Given the description of an element on the screen output the (x, y) to click on. 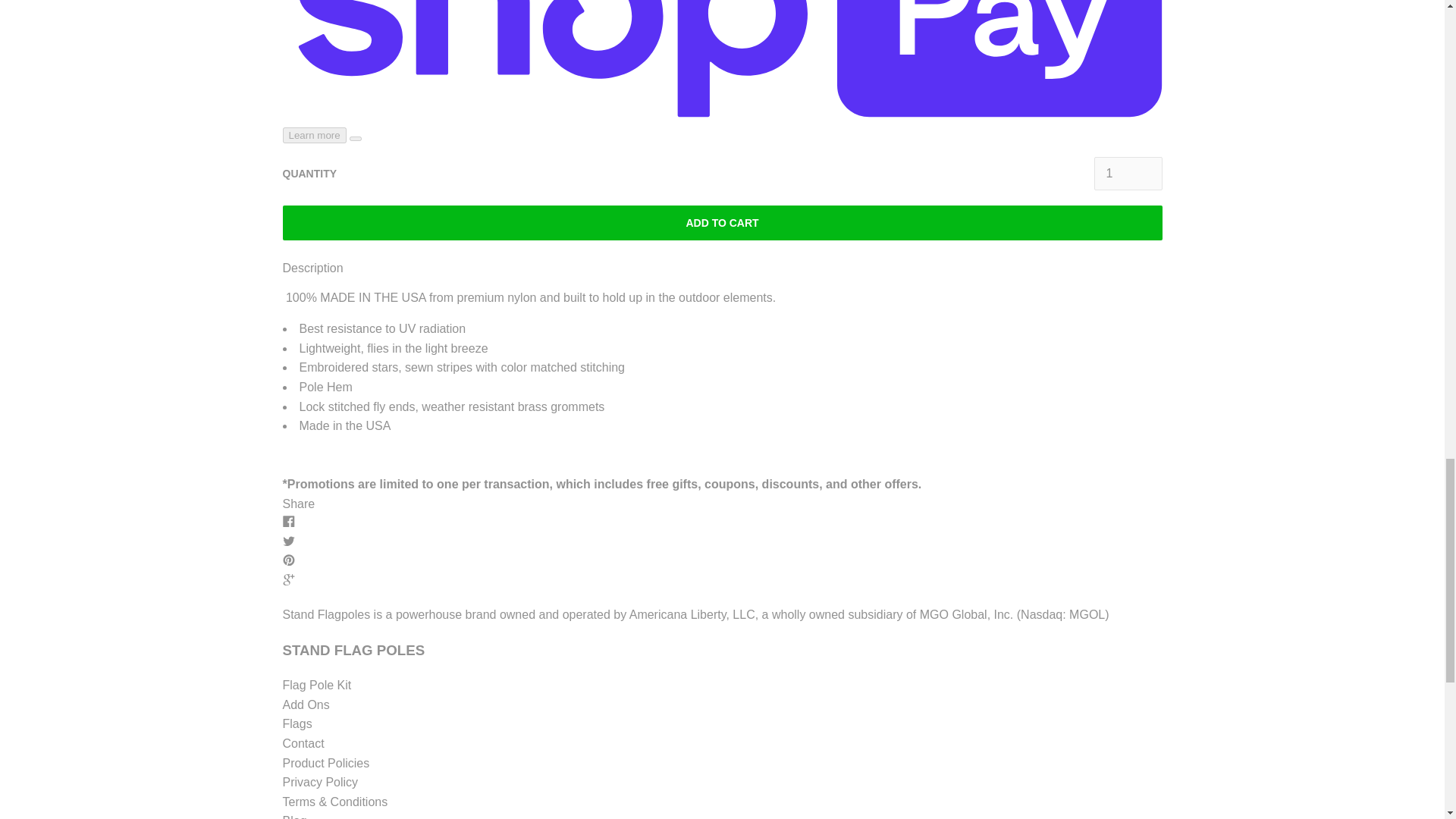
1 (1127, 173)
Pinterest (288, 559)
Facebook (288, 521)
Twitter (288, 540)
